Given the description of an element on the screen output the (x, y) to click on. 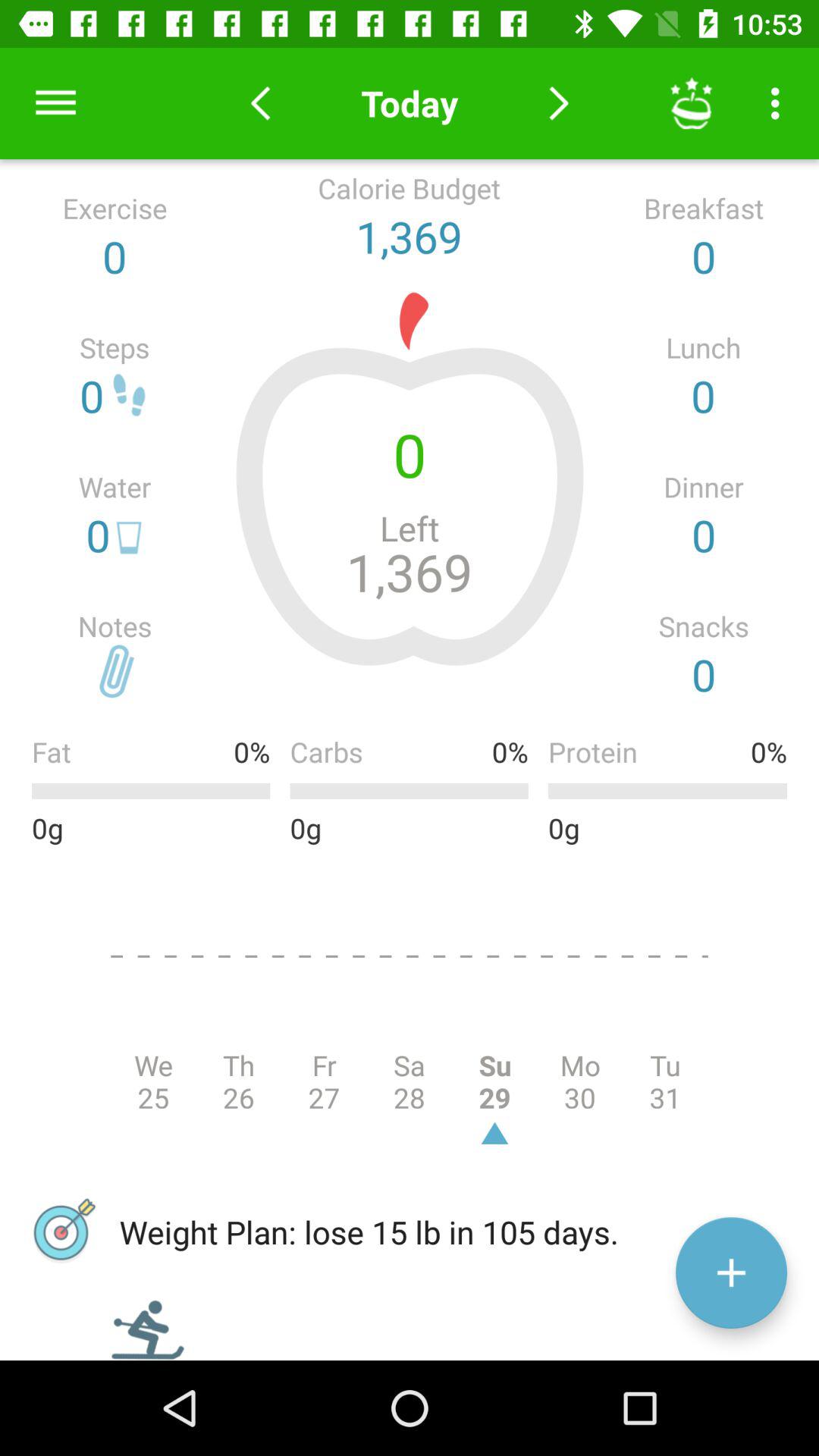
to goto next day (558, 103)
